Given the description of an element on the screen output the (x, y) to click on. 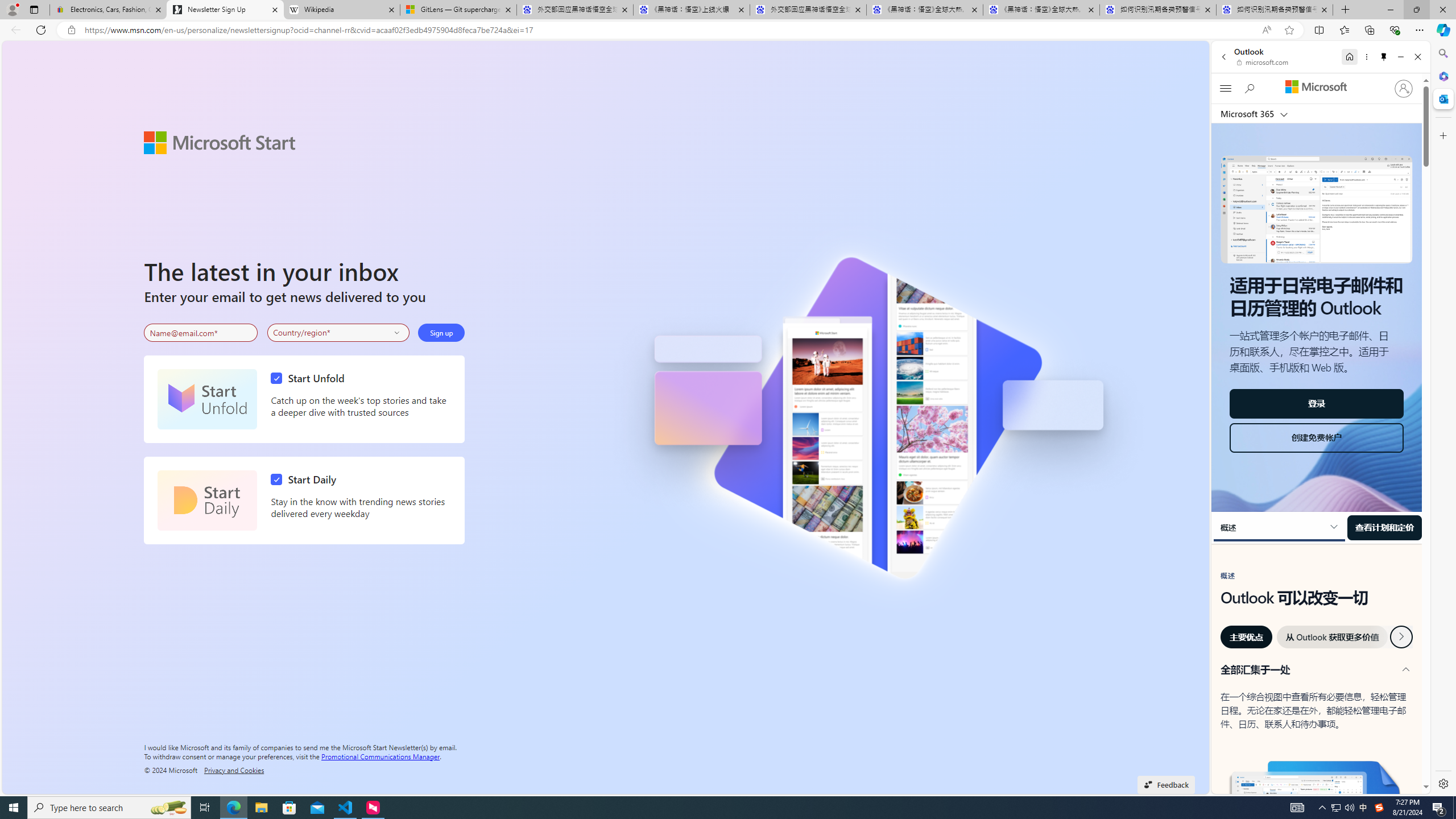
Electronics, Cars, Fashion, Collectibles & More | eBay (108, 9)
Enter your email (200, 332)
Home (1348, 56)
Wikipedia (341, 9)
Sign up (441, 332)
Start Unfold (310, 378)
New Tab (1346, 9)
Settings and more (Alt+F) (1419, 29)
Select your country (338, 332)
Customize (1442, 135)
Tab actions menu (33, 9)
